Given the description of an element on the screen output the (x, y) to click on. 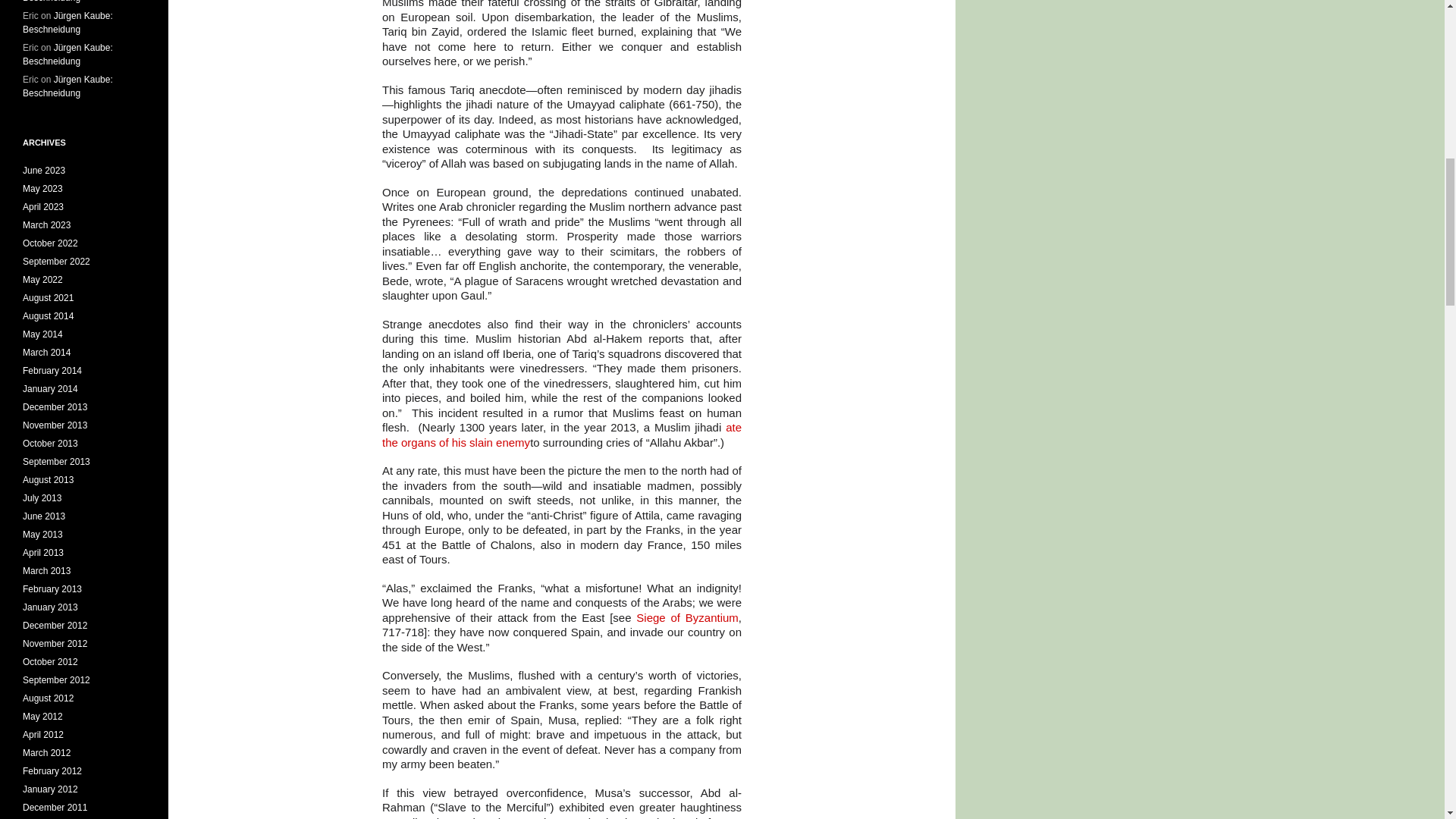
October 2022 (50, 243)
June 2023 (44, 170)
August 2014 (48, 316)
May 2014 (42, 334)
August 2021 (48, 297)
May 2022 (42, 279)
March 2023 (46, 225)
March 2014 (46, 352)
ate the organs of his slain enemy (561, 434)
Siege of Byzantium (687, 617)
May 2023 (42, 188)
April 2023 (43, 206)
September 2022 (56, 261)
